Given the description of an element on the screen output the (x, y) to click on. 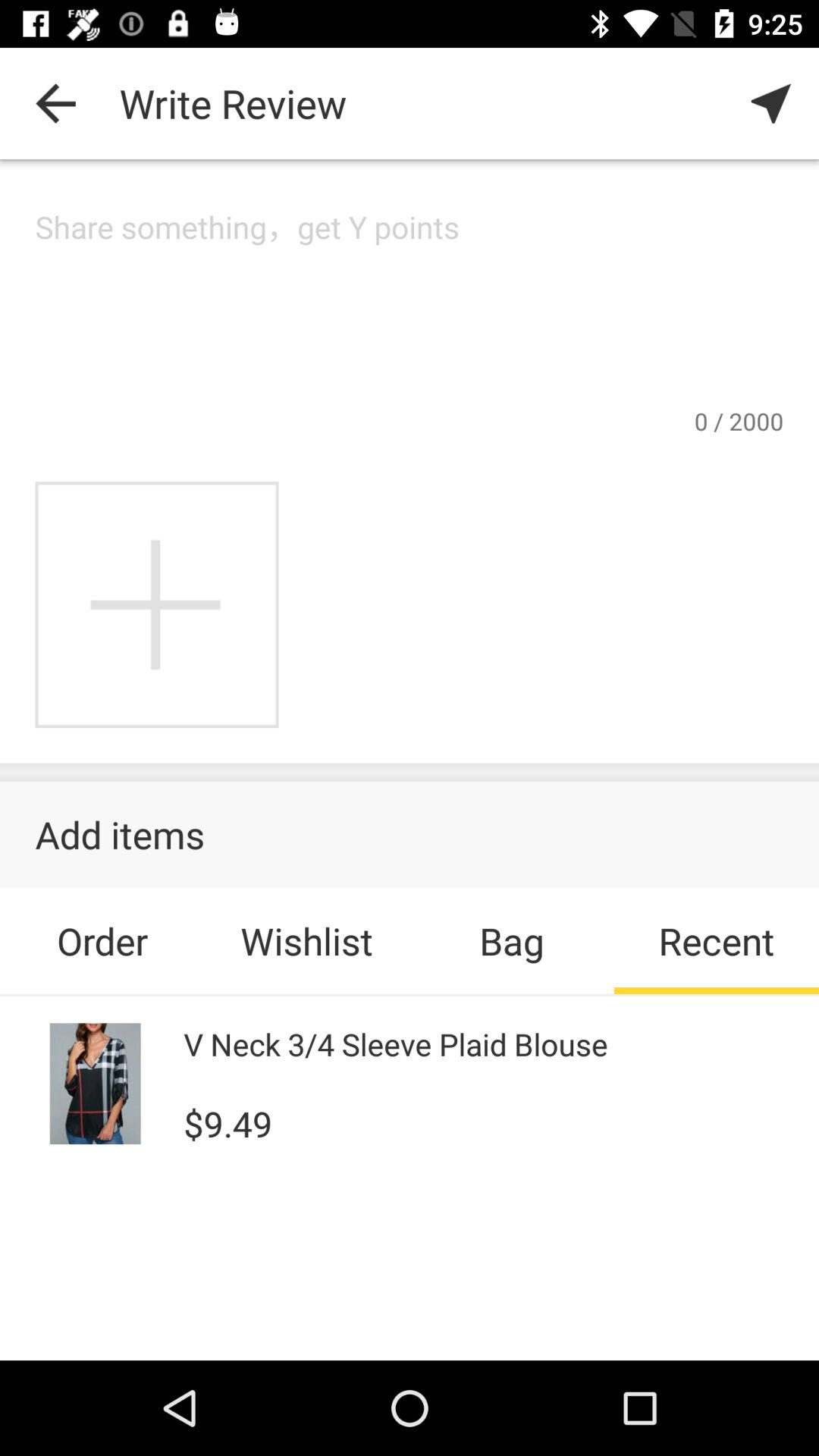
share a comment (409, 304)
